Given the description of an element on the screen output the (x, y) to click on. 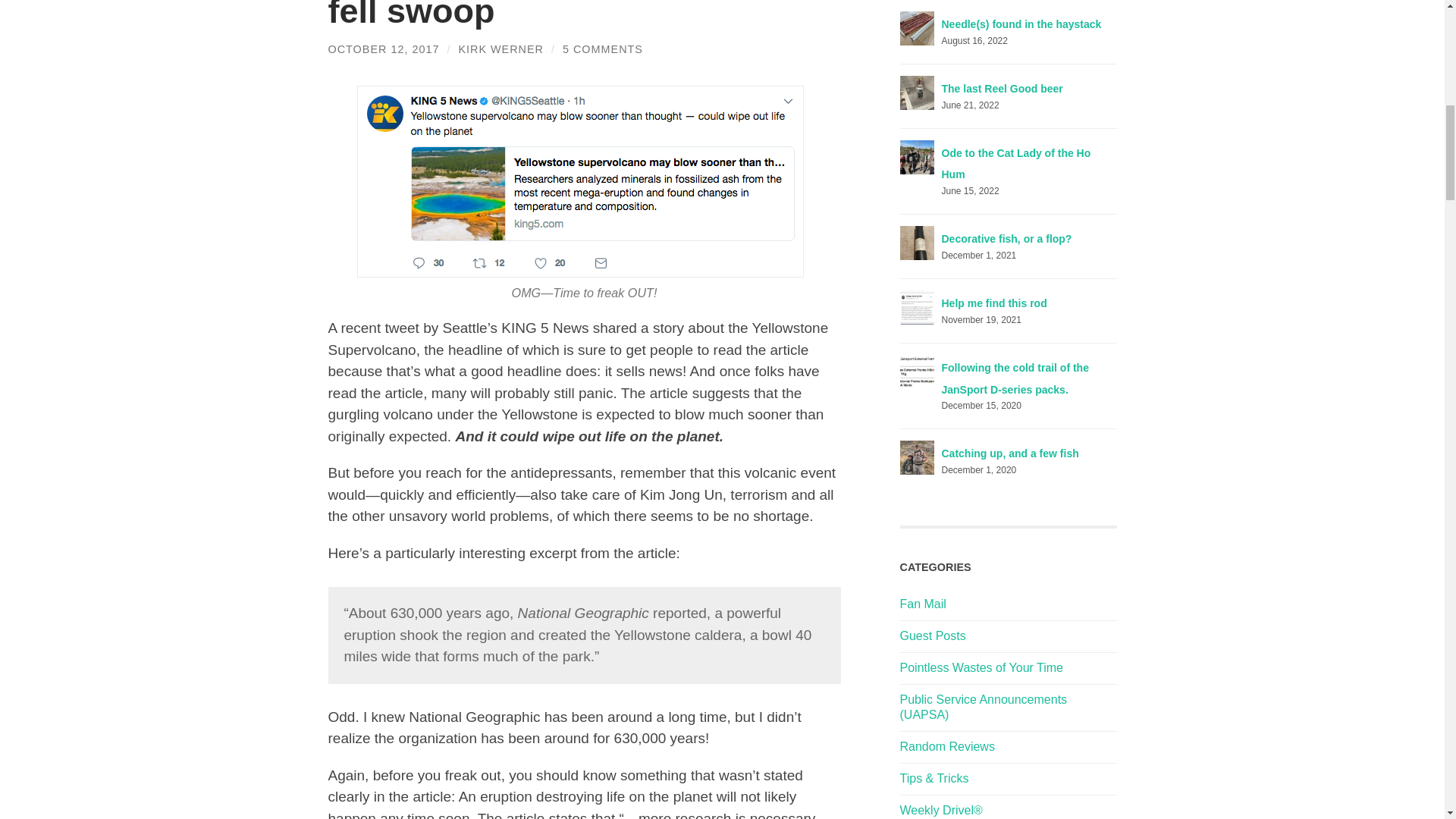
Permalink to Decorative fish, or  a flop? (1006, 238)
Permalink to Help me find this rod (994, 303)
KIRK WERNER (500, 49)
Permalink to Catching up, and a few fish (1010, 453)
Permalink to The last Reel Good beer (1002, 88)
Posts by Kirk Werner (500, 49)
Permalink to Ode to the Cat Lady of the Ho Hum (1016, 163)
OCTOBER 12, 2017 (383, 49)
